Given the description of an element on the screen output the (x, y) to click on. 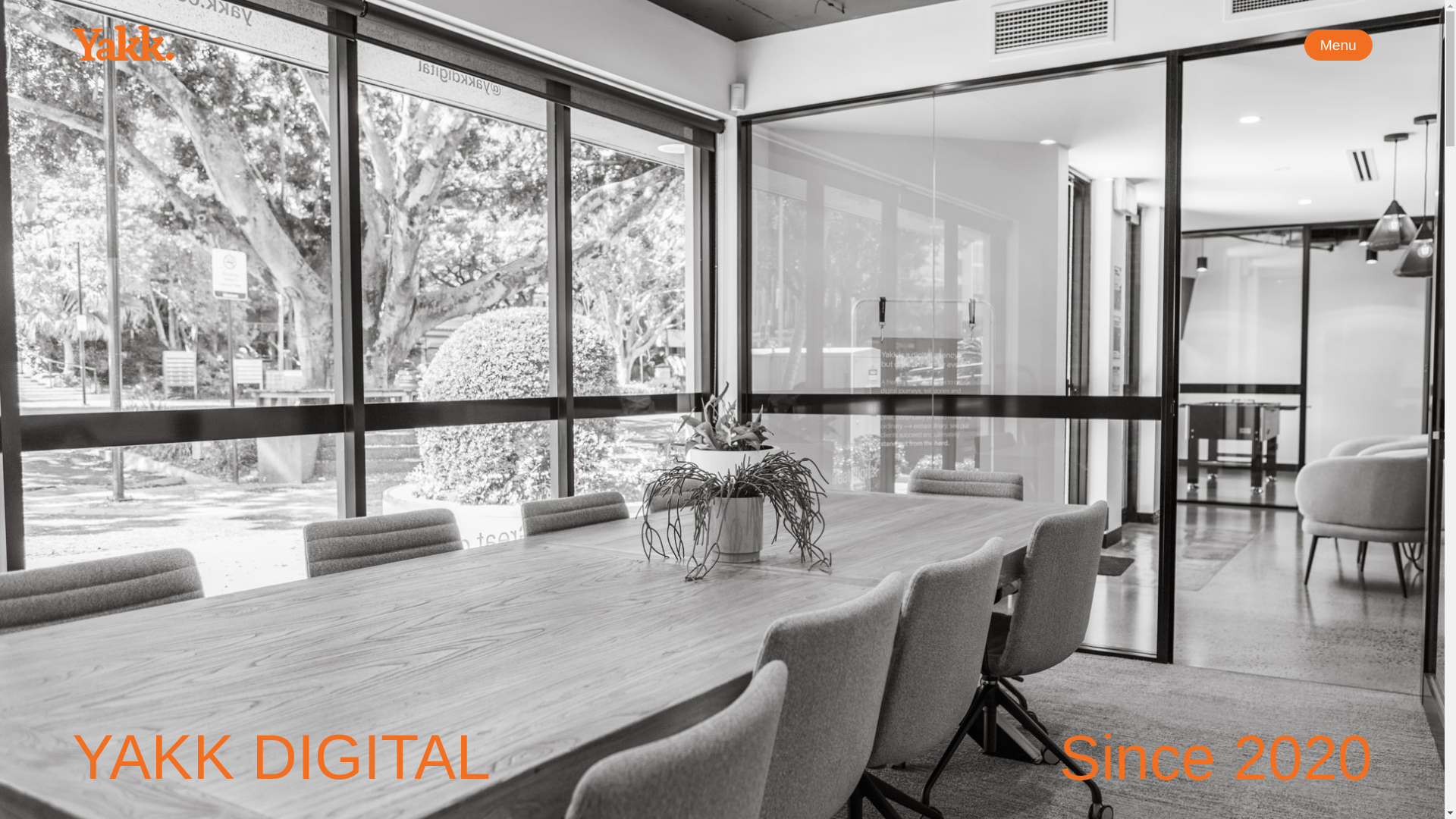
Menu (1338, 44)
